Given the description of an element on the screen output the (x, y) to click on. 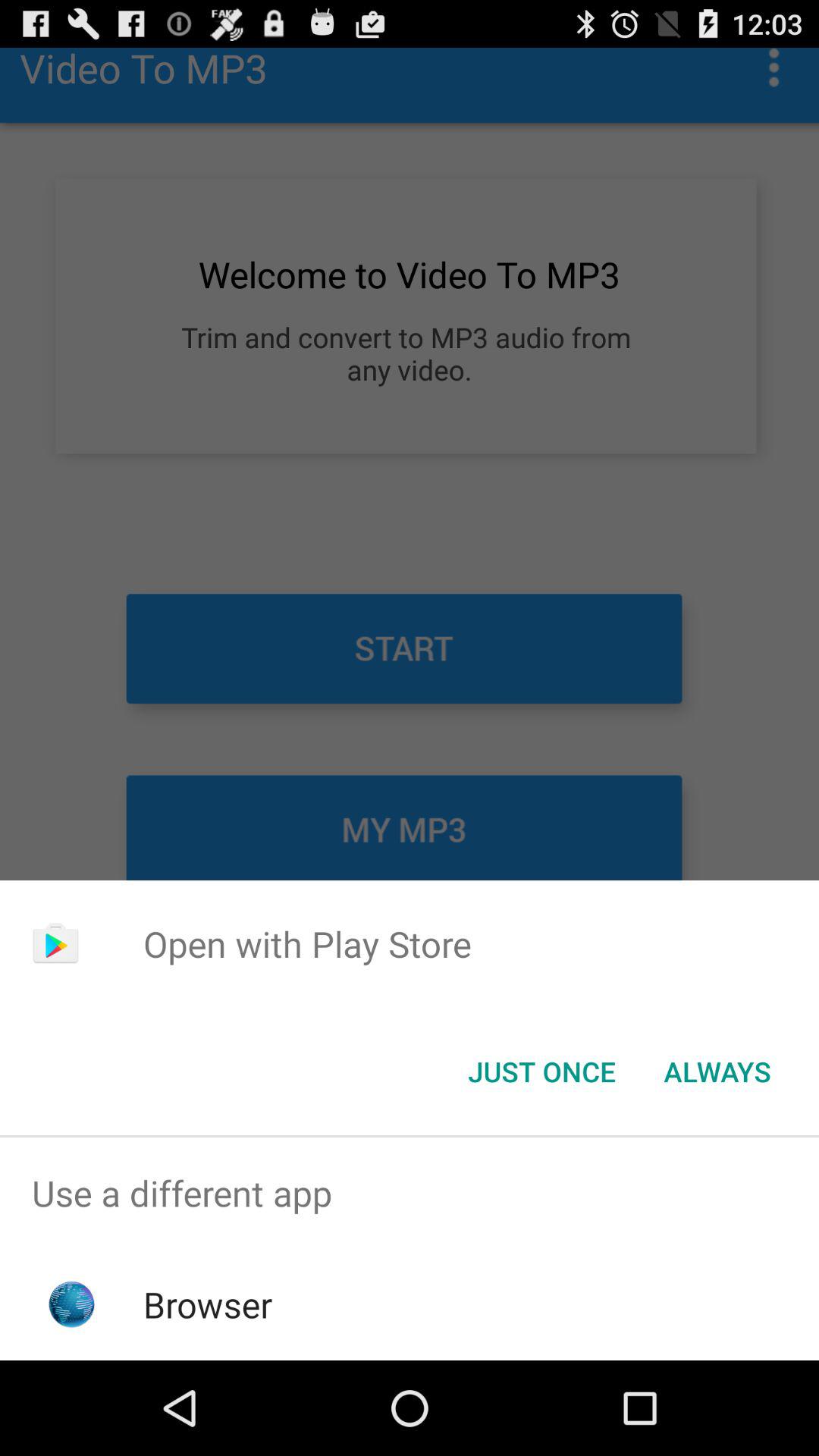
turn off the icon above the browser app (409, 1192)
